Given the description of an element on the screen output the (x, y) to click on. 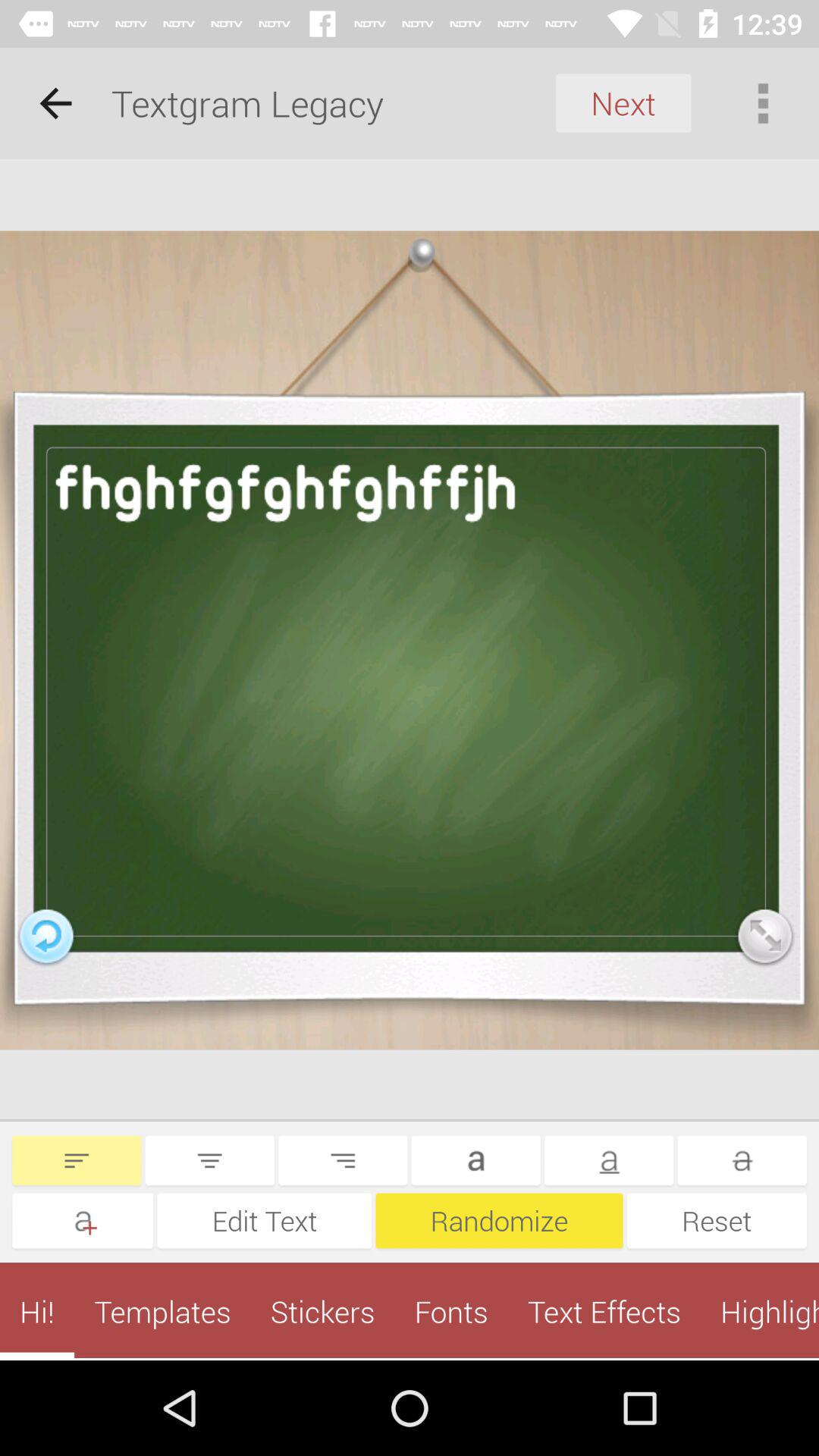
turn off the item next to the fonts item (603, 1311)
